Given the description of an element on the screen output the (x, y) to click on. 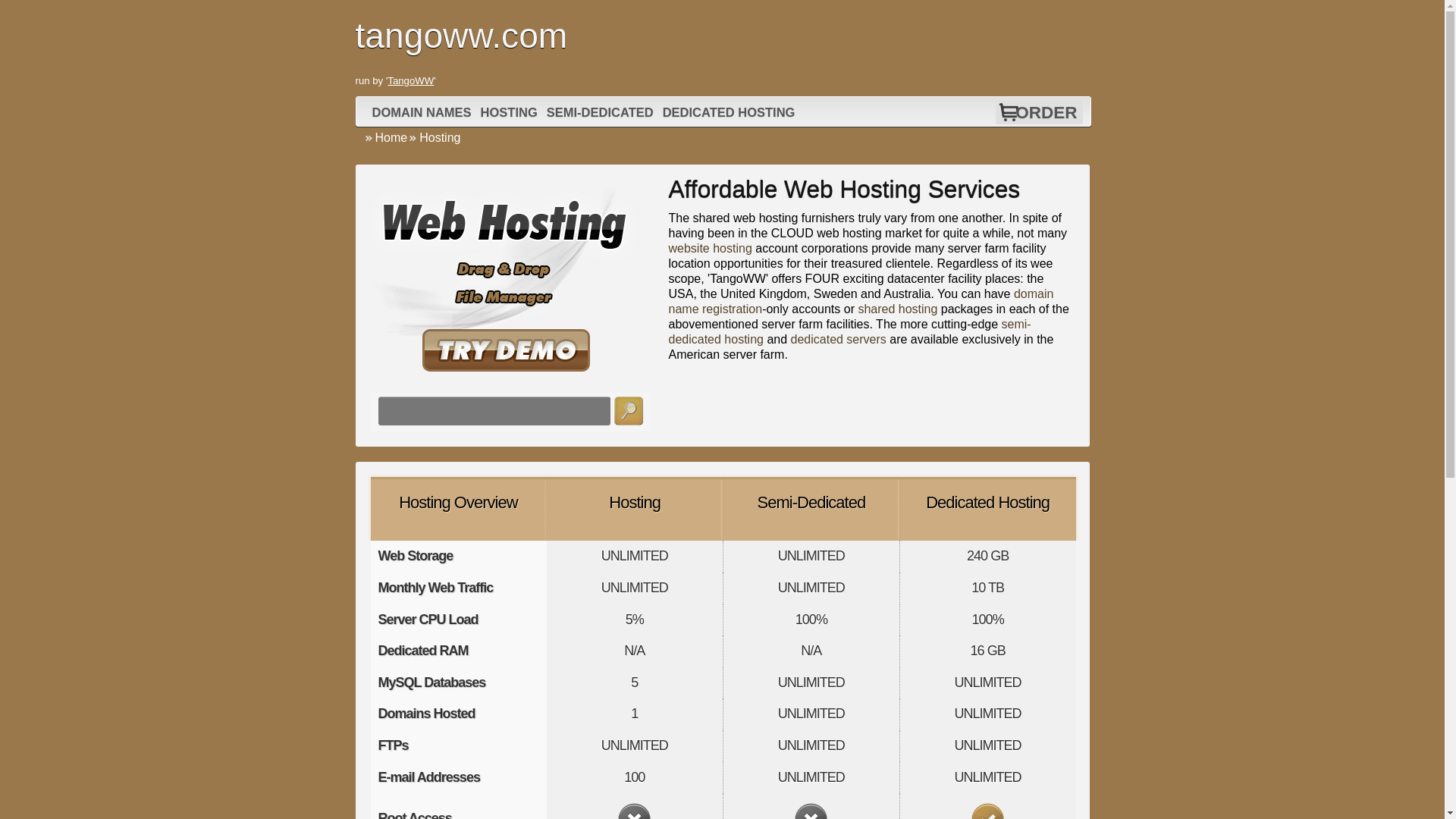
Execute a Domain Name Search (628, 410)
shared hosting (897, 308)
website hosting (710, 247)
SEMI-DEDICATED (600, 112)
Home (384, 137)
semi-dedicated hosting (849, 331)
DOMAIN NAMES (422, 112)
Semi-Dedicated (811, 502)
Search (628, 410)
HOSTING (509, 112)
domain name registration (861, 301)
dedicated servers (838, 338)
Hosting (634, 502)
DEDICATED HOSTING (729, 112)
ORDER (1045, 112)
